Given the description of an element on the screen output the (x, y) to click on. 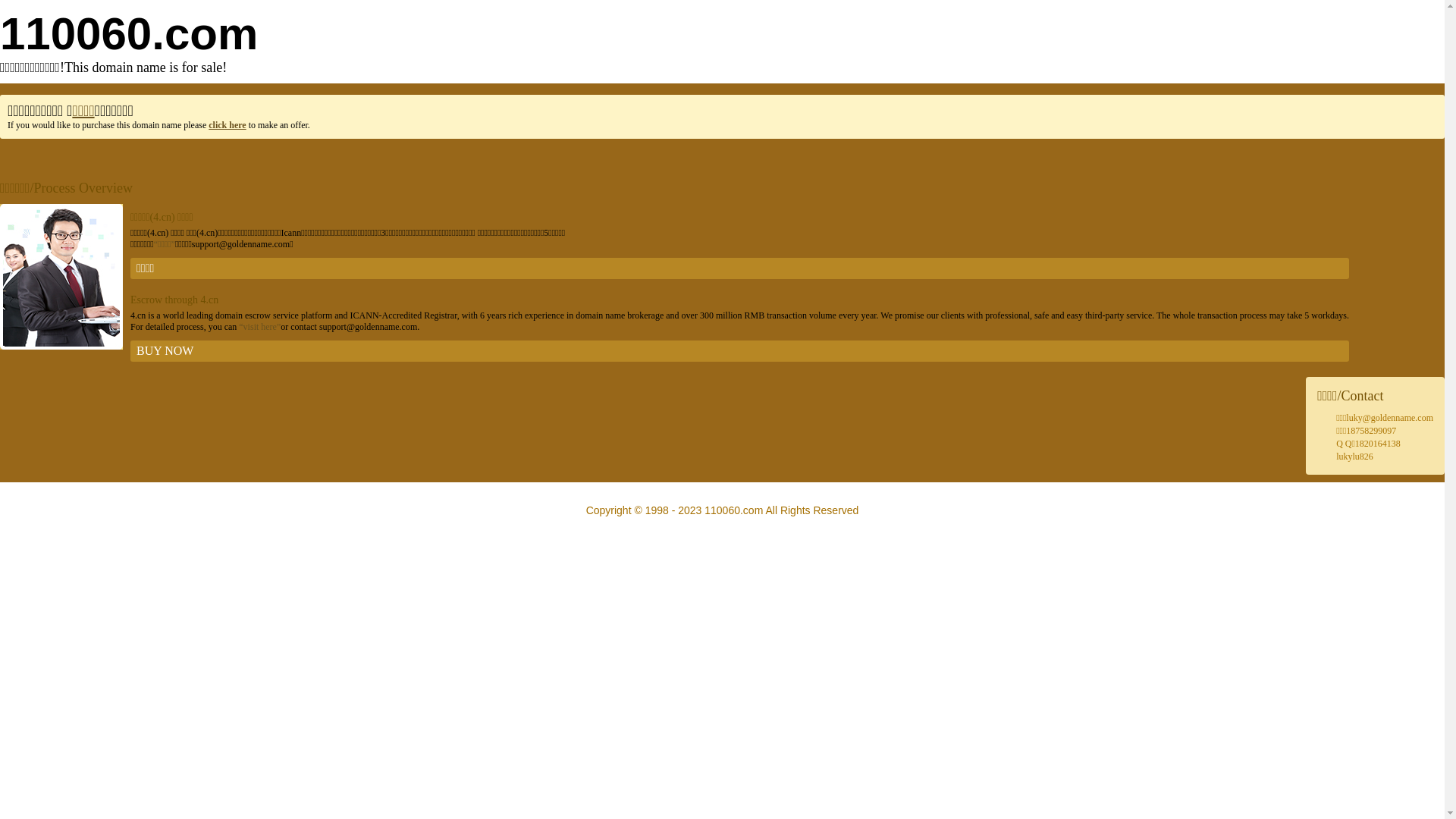
BUY NOW Element type: text (739, 350)
click here Element type: text (226, 124)
